Given the description of an element on the screen output the (x, y) to click on. 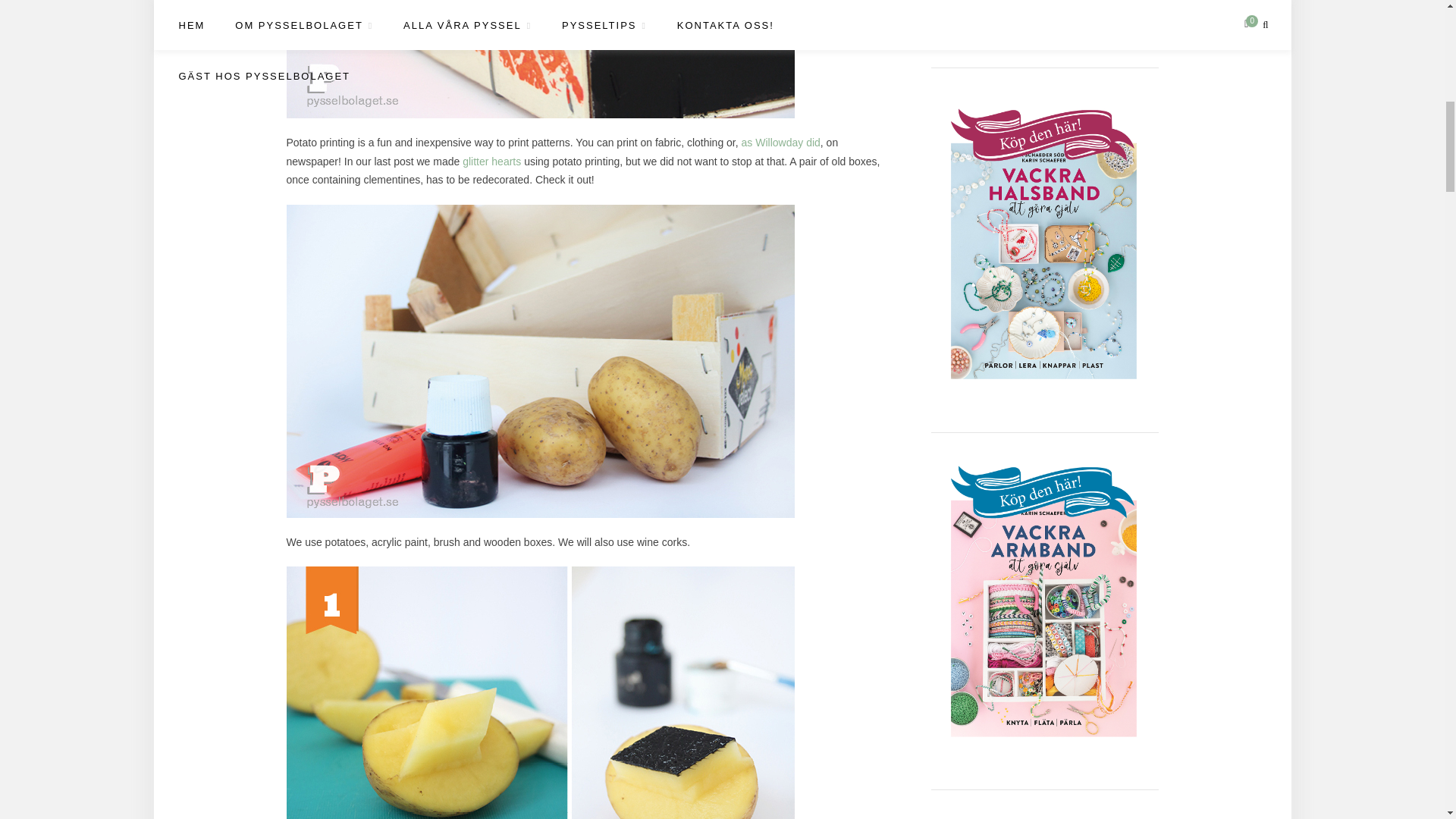
Valentine cups (493, 160)
Willodaygram (781, 142)
